Given the description of an element on the screen output the (x, y) to click on. 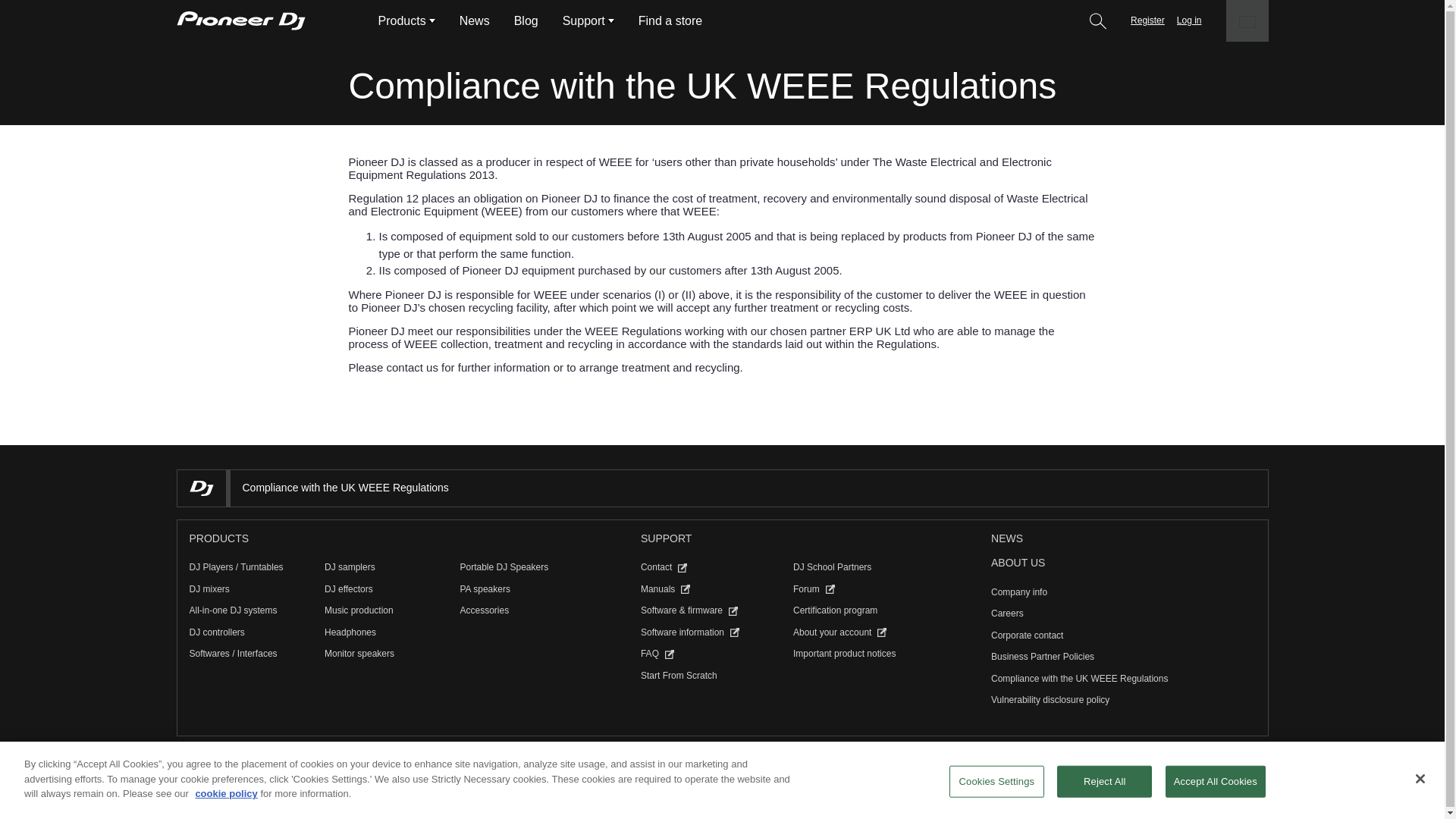
Find a store (670, 20)
Support (583, 20)
Find a store (670, 20)
Register (1147, 20)
Products (401, 20)
News (1007, 538)
